Given the description of an element on the screen output the (x, y) to click on. 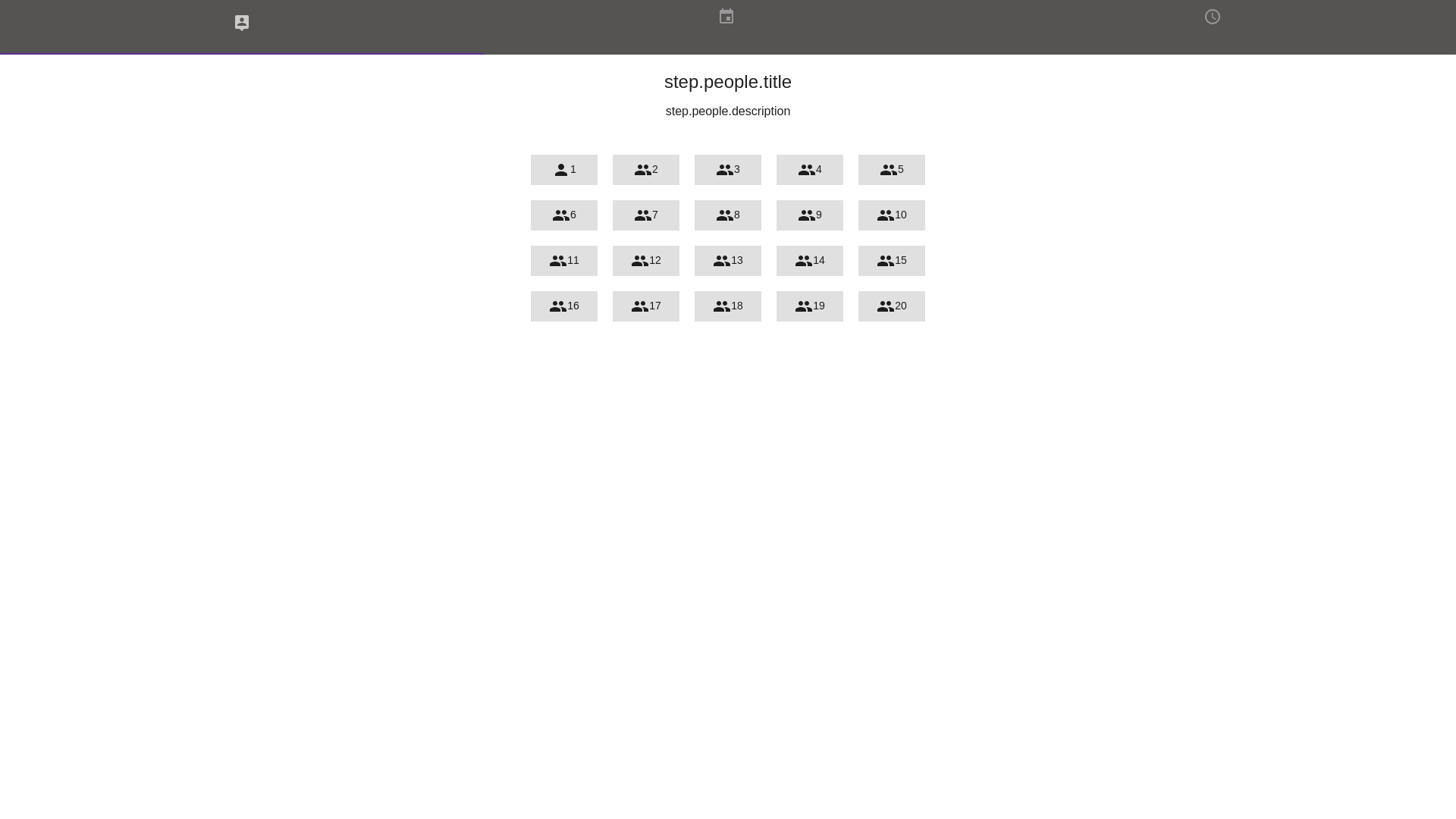
9 Element type: text (809, 215)
3 Element type: text (727, 169)
7 Element type: text (645, 215)
11 Element type: text (563, 260)
19 Element type: text (809, 306)
14 Element type: text (809, 260)
15 Element type: text (891, 260)
1 Element type: text (563, 169)
20 Element type: text (891, 306)
6 Element type: text (563, 215)
17 Element type: text (645, 306)
12 Element type: text (645, 260)
8 Element type: text (727, 215)
  Element type: text (726, 27)
10 Element type: text (891, 215)
2 Element type: text (645, 169)
4 Element type: text (809, 169)
13 Element type: text (727, 260)
5 Element type: text (891, 169)
16 Element type: text (563, 306)
18 Element type: text (727, 306)
